Given the description of an element on the screen output the (x, y) to click on. 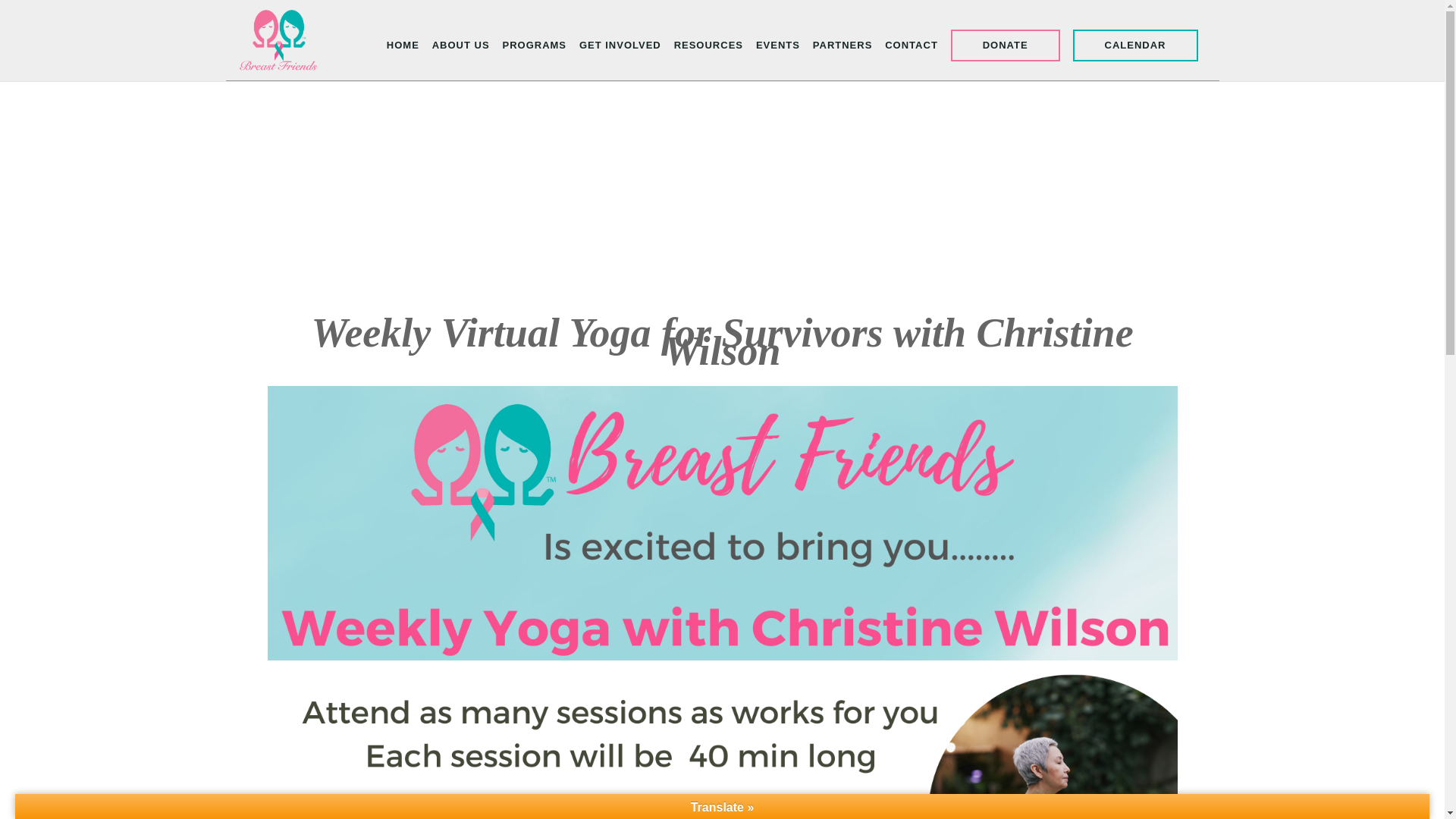
HOME (403, 45)
PARTNERS (842, 45)
EVENTS (777, 45)
CALENDAR (1135, 44)
PROGRAMS (534, 45)
GET INVOLVED (620, 45)
CONTACT (911, 45)
RESOURCES (708, 45)
DONATE (1004, 44)
ABOUT US (460, 45)
